Given the description of an element on the screen output the (x, y) to click on. 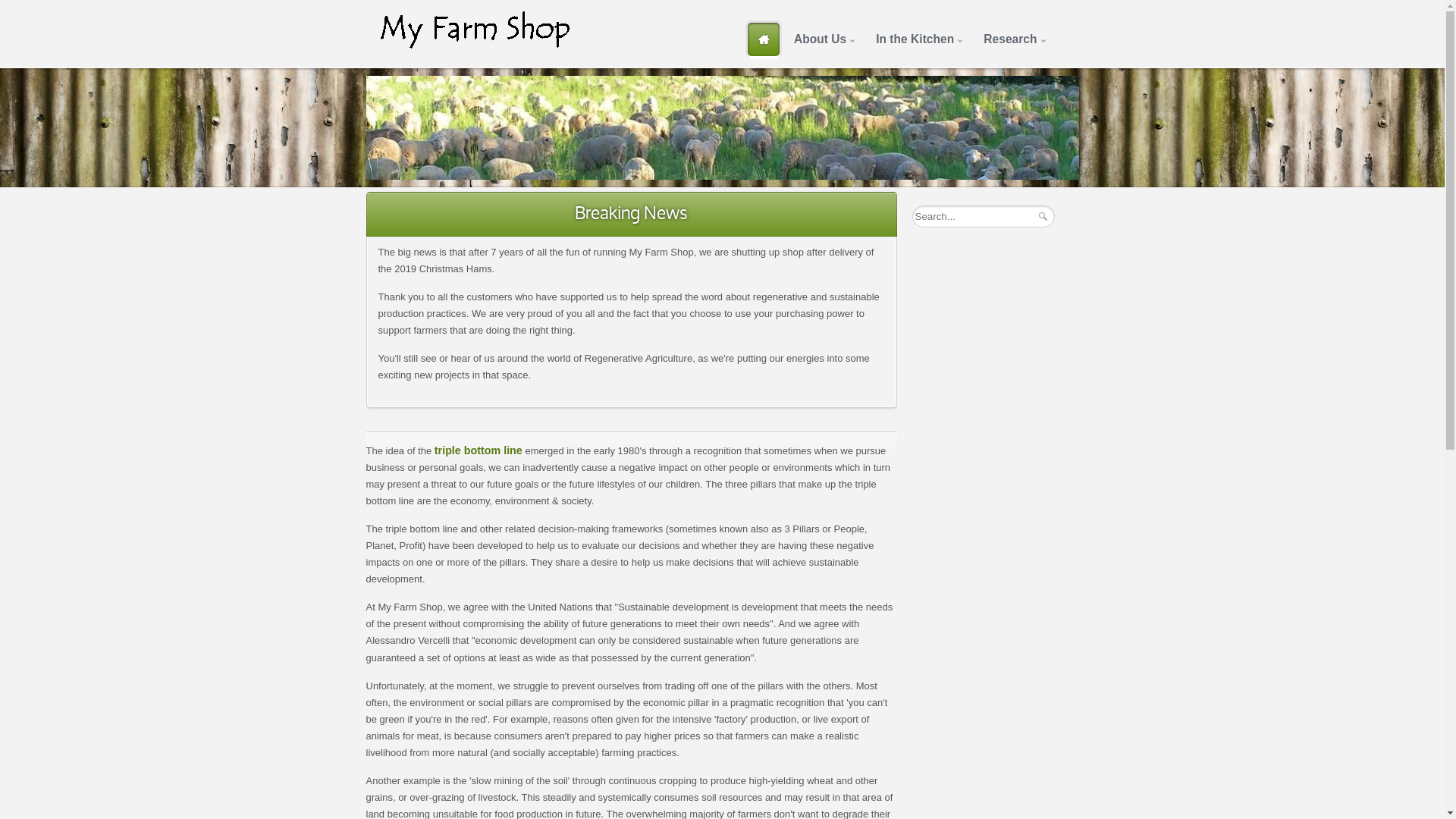
In the Kitchen Element type: text (917, 39)
Research Element type: text (1011, 39)
About Us Element type: text (822, 39)
